Given the description of an element on the screen output the (x, y) to click on. 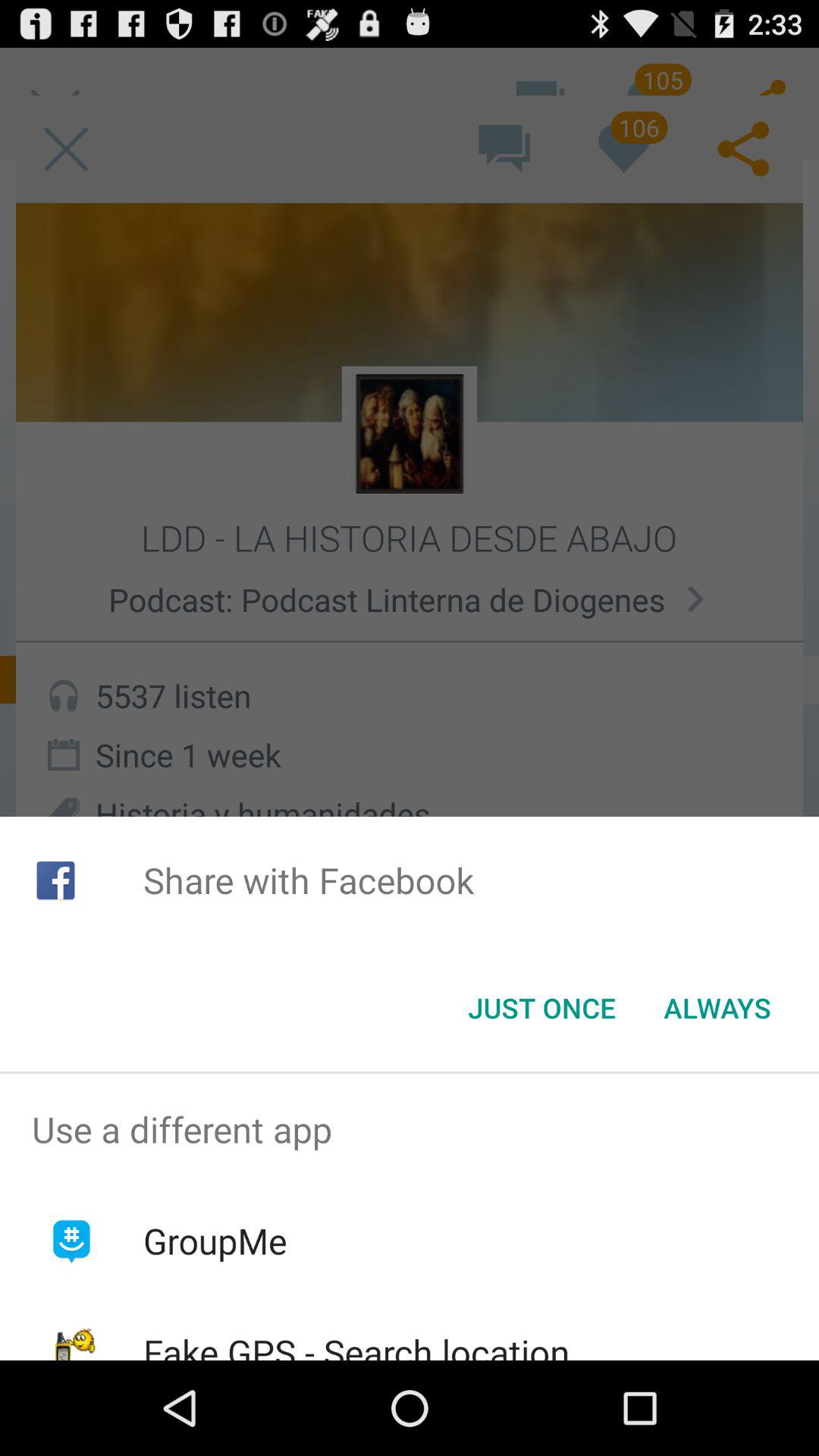
open icon below groupme app (356, 1344)
